Given the description of an element on the screen output the (x, y) to click on. 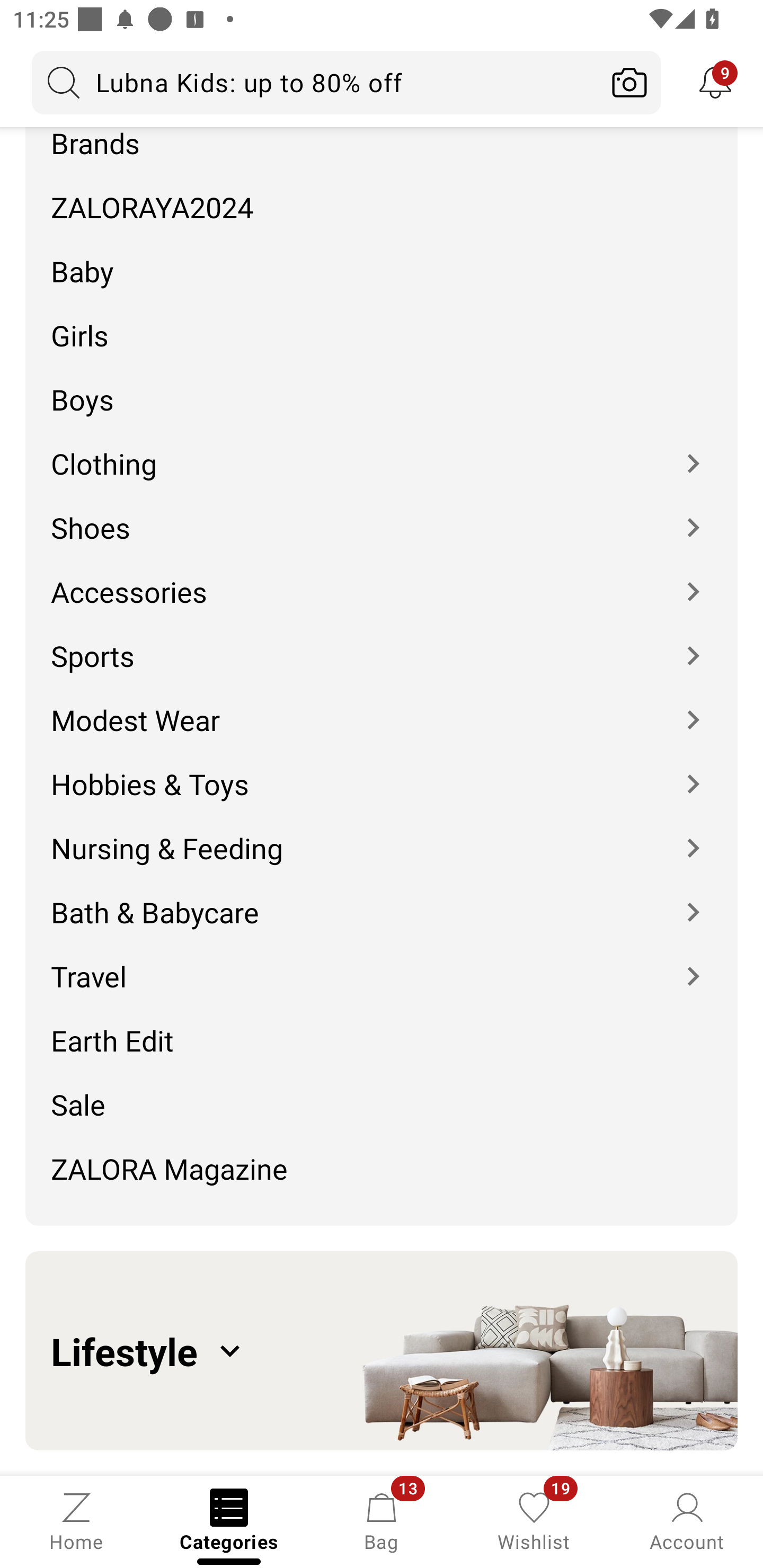
Lubna Kids: up to 80% off (314, 82)
Brands (381, 144)
ZALORAYA2024 (381, 193)
Baby (381, 257)
Girls (381, 322)
Boys (381, 386)
Clothing (381, 450)
Shoes (381, 514)
Accessories (381, 579)
Sports (381, 642)
Modest Wear (381, 706)
Hobbies & Toys (381, 770)
Nursing & Feeding (381, 834)
Bath & Babycare (381, 899)
Travel (381, 963)
Earth Edit (381, 1027)
Sale (381, 1091)
ZALORA Magazine (381, 1175)
Lifestyle (381, 1350)
Home (76, 1519)
Bag, 13 new notifications Bag (381, 1519)
Wishlist, 19 new notifications Wishlist (533, 1519)
Account (686, 1519)
